Given the description of an element on the screen output the (x, y) to click on. 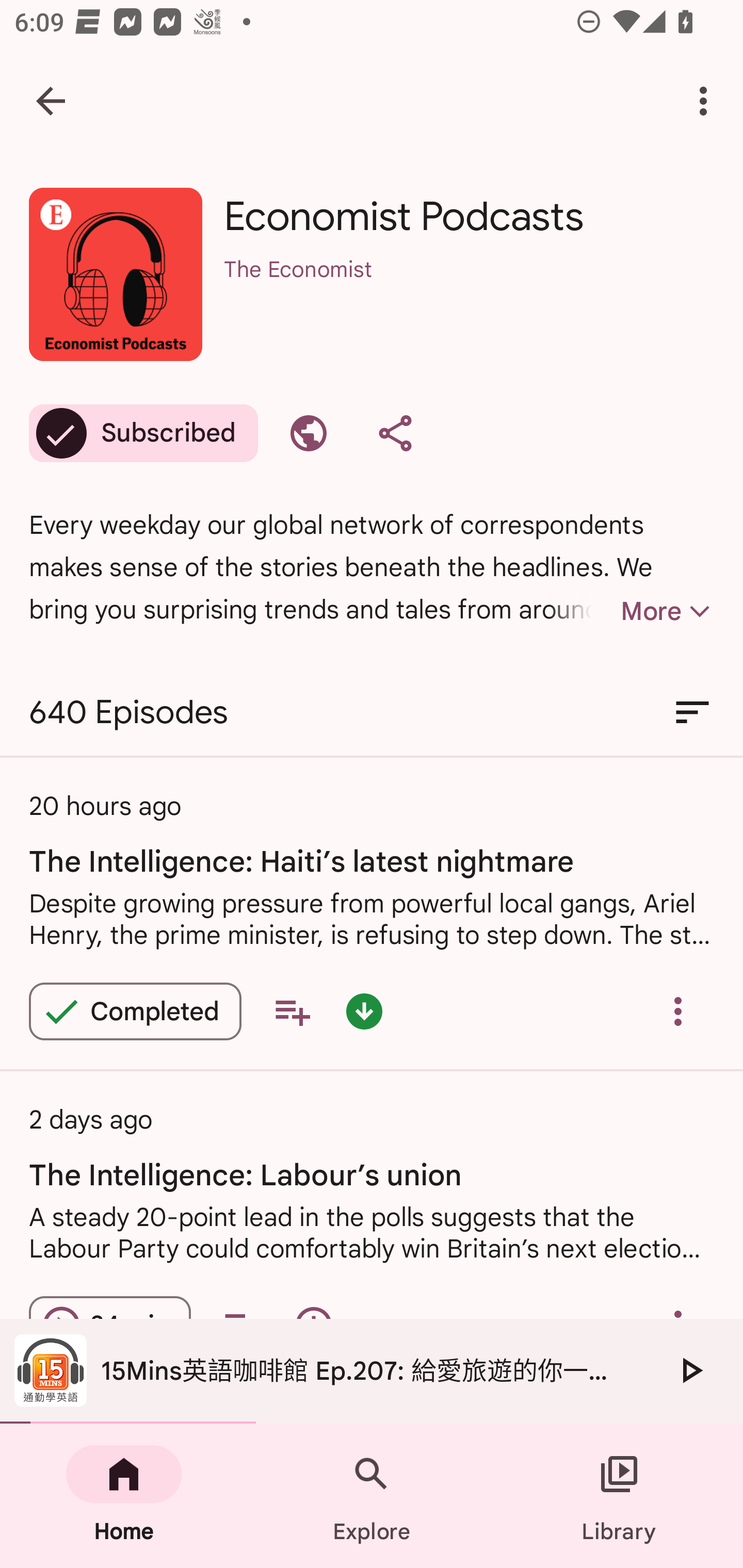
Navigate up (50, 101)
More options (706, 101)
The Economist (468, 295)
Subscribed (142, 433)
Visit website (308, 433)
Share (395, 433)
More (631, 610)
Sort (692, 712)
Add to your queue (291, 1011)
Episode downloaded - double tap for options (364, 1011)
Overflow menu (677, 1011)
Play (690, 1370)
Explore (371, 1495)
Library (619, 1495)
